Given the description of an element on the screen output the (x, y) to click on. 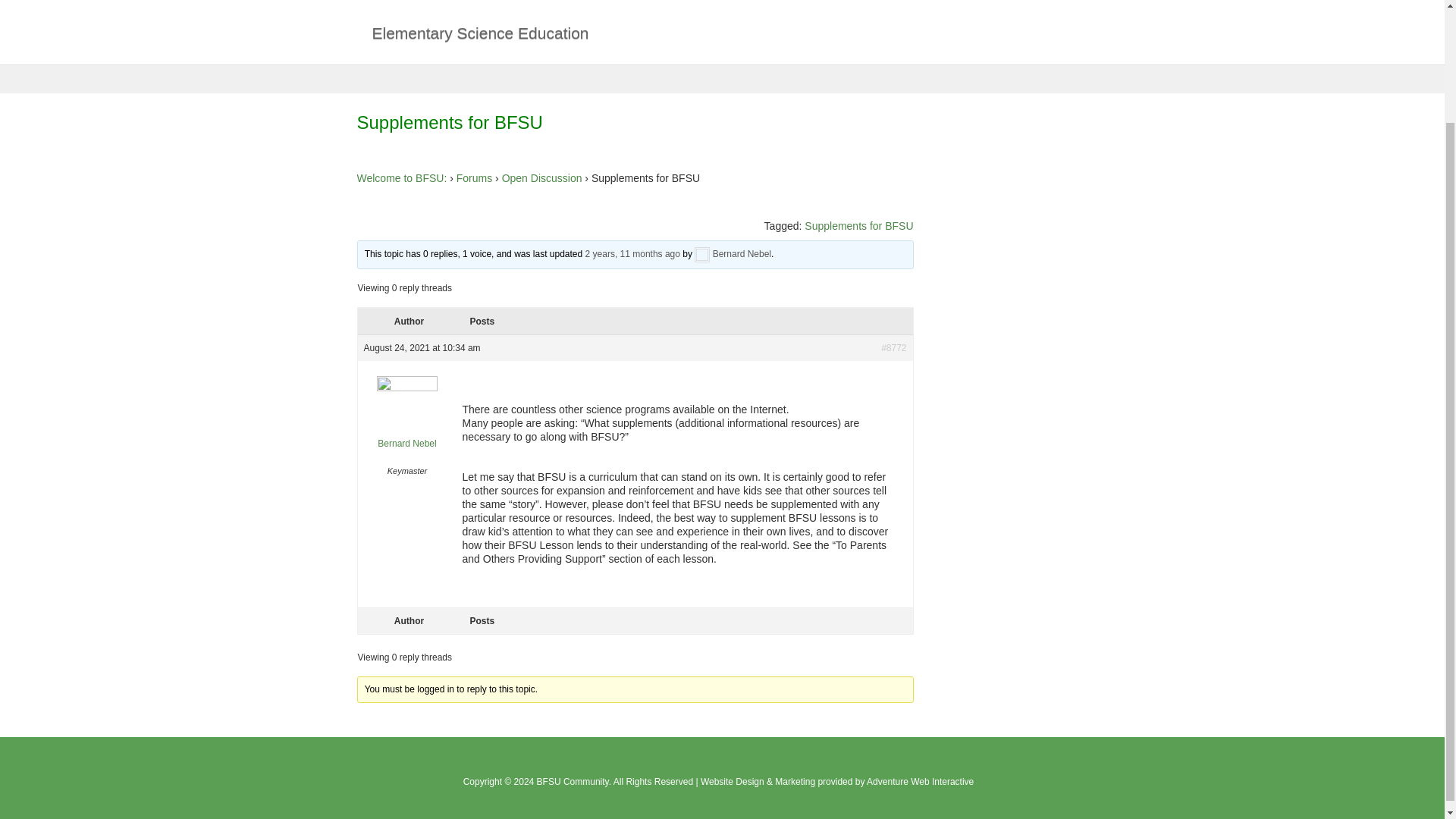
View Bernard Nebel's profile (702, 253)
Bernard Nebel (742, 253)
Supplements for BFSU (858, 225)
Welcome to BFSU: (401, 177)
View Bernard Nebel's profile (742, 253)
Forums (474, 177)
View Bernard Nebel's profile (407, 388)
Adventure Web Interactive (920, 781)
View Bernard Nebel's profile (407, 443)
Open Discussion (542, 177)
2 years, 11 months ago (632, 253)
Bernard Nebel (407, 443)
Supplements for BFSU (632, 253)
